Given the description of an element on the screen output the (x, y) to click on. 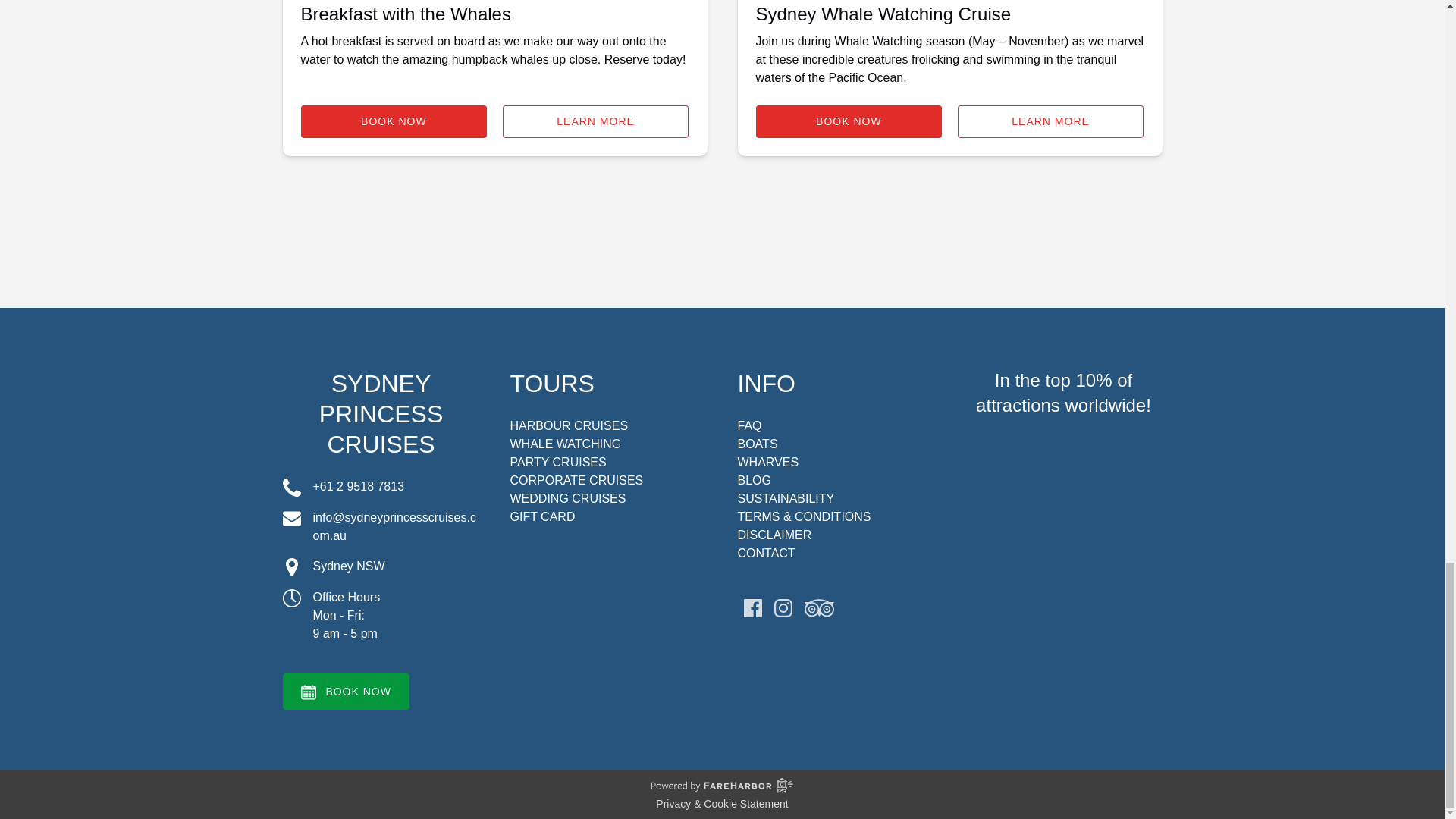
Envelope (290, 518)
Phone (290, 487)
CALENDAR (307, 692)
Clock (290, 597)
Map Marker (290, 566)
